Given the description of an element on the screen output the (x, y) to click on. 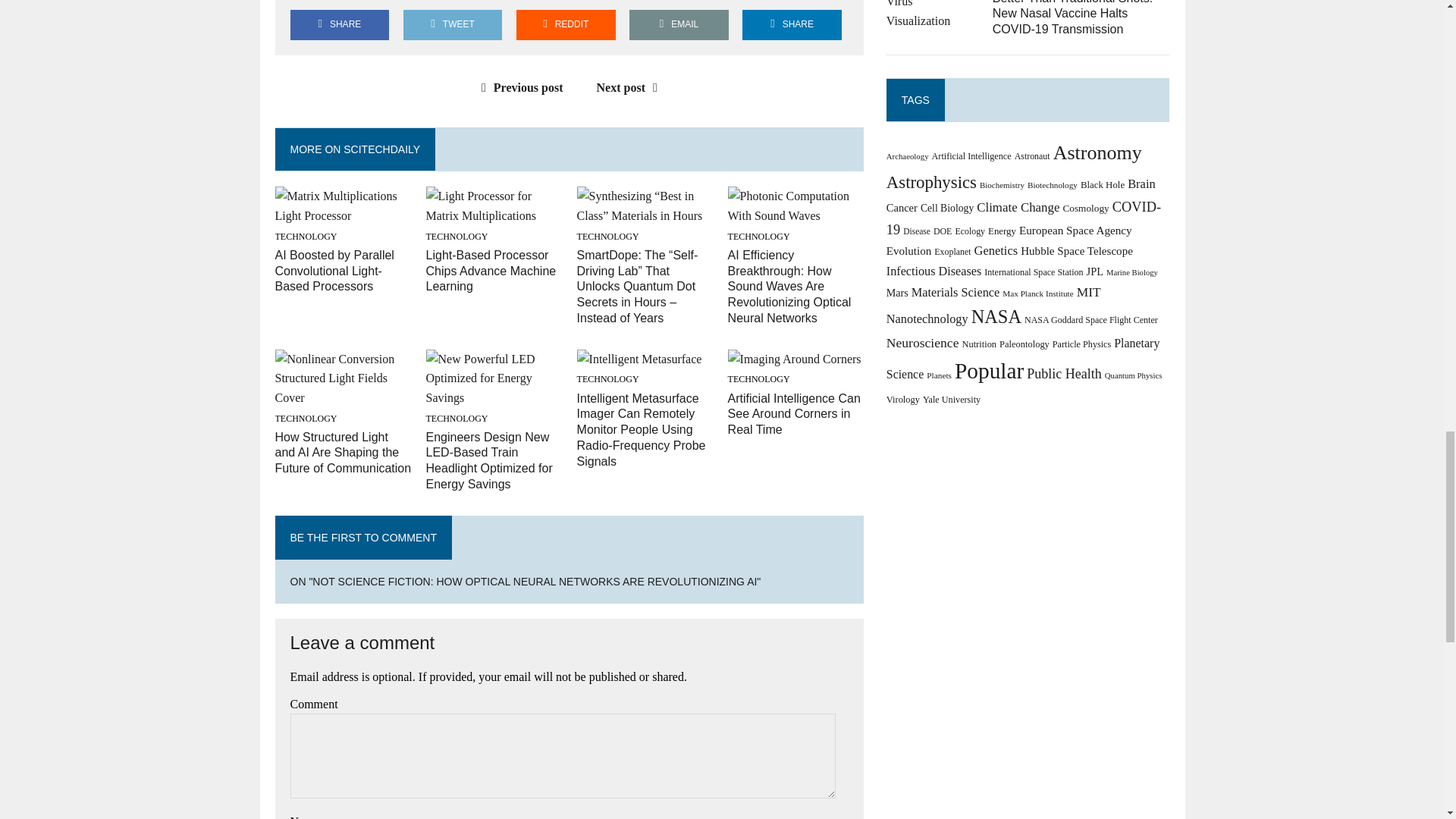
TWEET (452, 24)
SHARE (338, 24)
Tweet This Article (452, 24)
Post This Article to Reddit (565, 24)
REDDIT (565, 24)
Previous post (518, 87)
Share on Facebook (338, 24)
EMAIL (678, 24)
Share on LinkedIn (791, 24)
SHARE (791, 24)
